Given the description of an element on the screen output the (x, y) to click on. 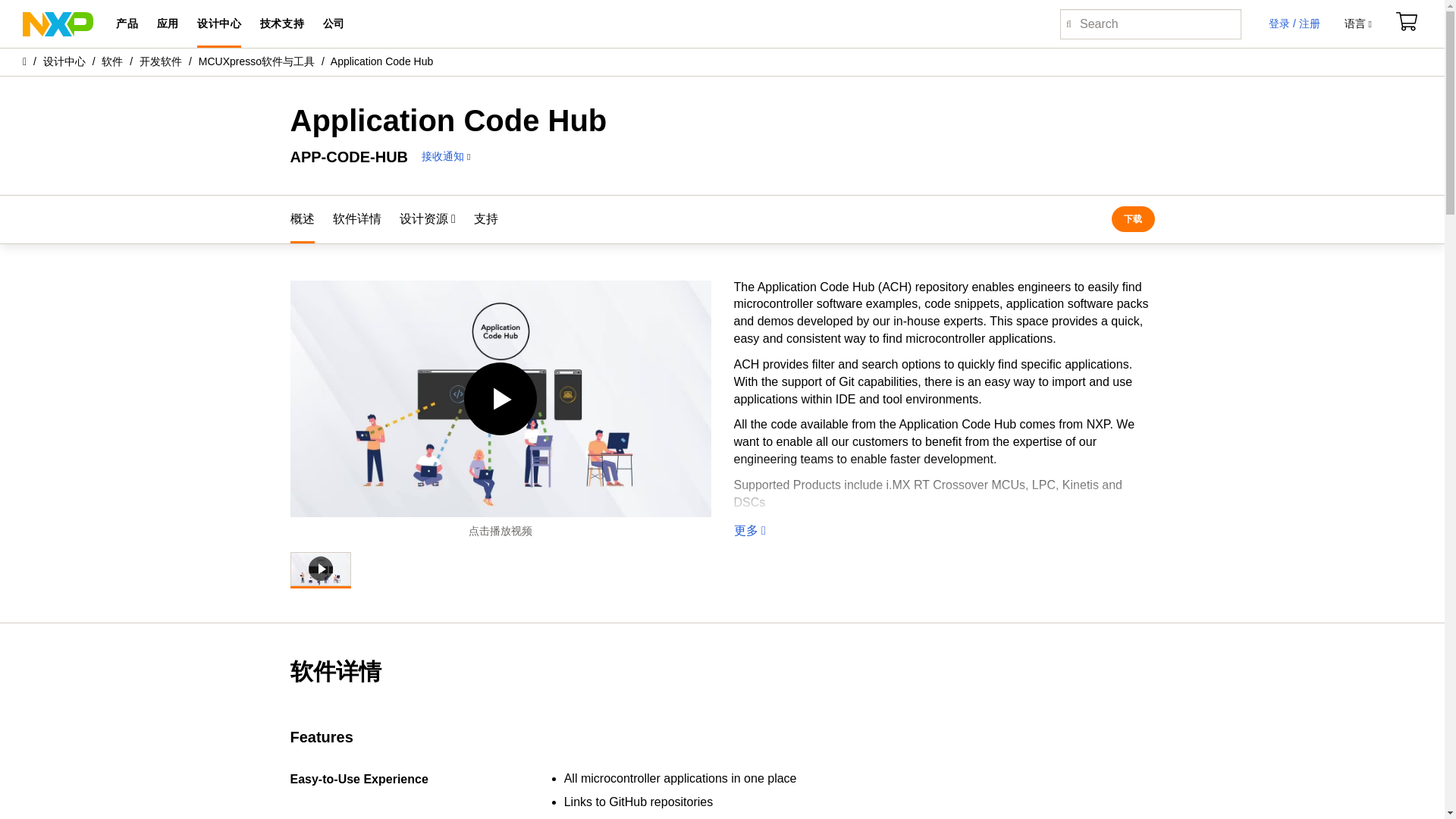
NXP Semiconductor (58, 23)
